Given the description of an element on the screen output the (x, y) to click on. 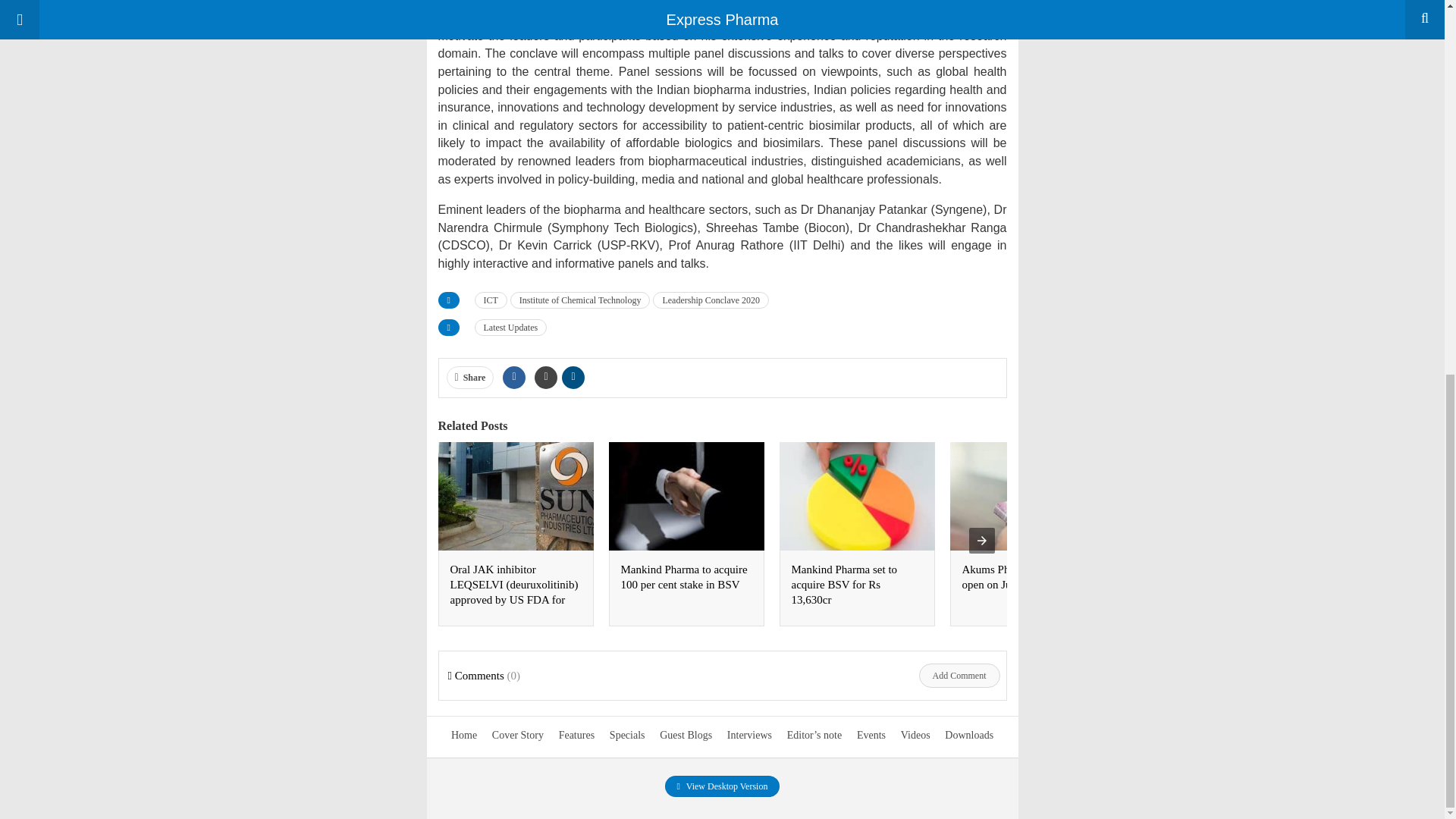
Latest Updates (510, 327)
ICT (490, 299)
Add Comment (959, 675)
Home (464, 735)
Leadership Conclave 2020 (710, 299)
Mankind Pharma to acquire 100 per cent stake in BSV (683, 576)
Mankind Pharma set to acquire BSV for Rs 13,630cr (845, 584)
Institute of Chemical Technology (580, 299)
